Given the description of an element on the screen output the (x, y) to click on. 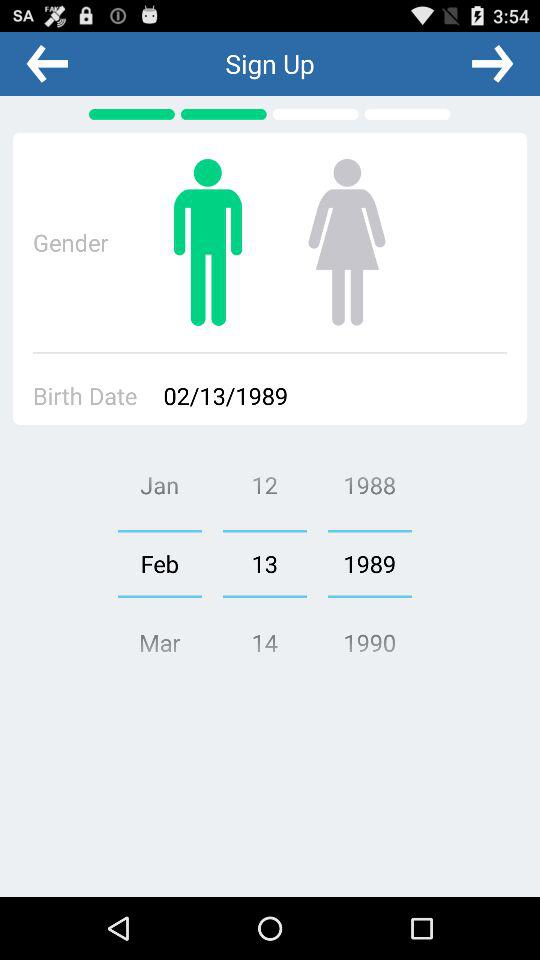
open the item above the gender icon (47, 63)
